Given the description of an element on the screen output the (x, y) to click on. 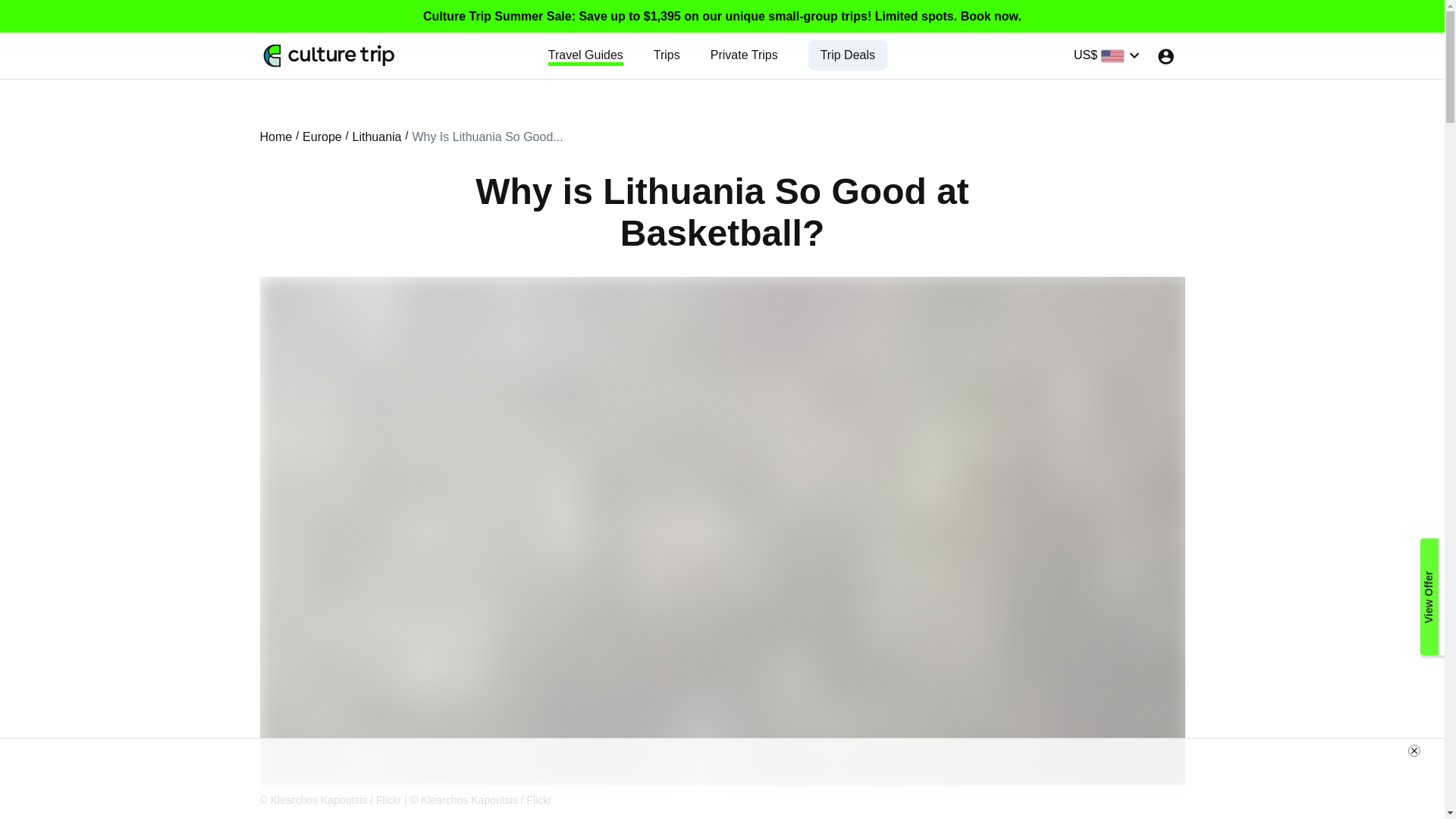
Trip Deals (848, 54)
Travel Guides (585, 54)
Trip Deals (848, 54)
Why Is Lithuania So Good... (487, 136)
Travel Guides (585, 54)
3rd party ad content (721, 778)
Europe (322, 136)
Home (275, 136)
The Culture Trip (328, 54)
Trips (666, 54)
Private Trips (743, 54)
Private Trips (743, 54)
Lithuania (376, 136)
Trips (666, 54)
